Given the description of an element on the screen output the (x, y) to click on. 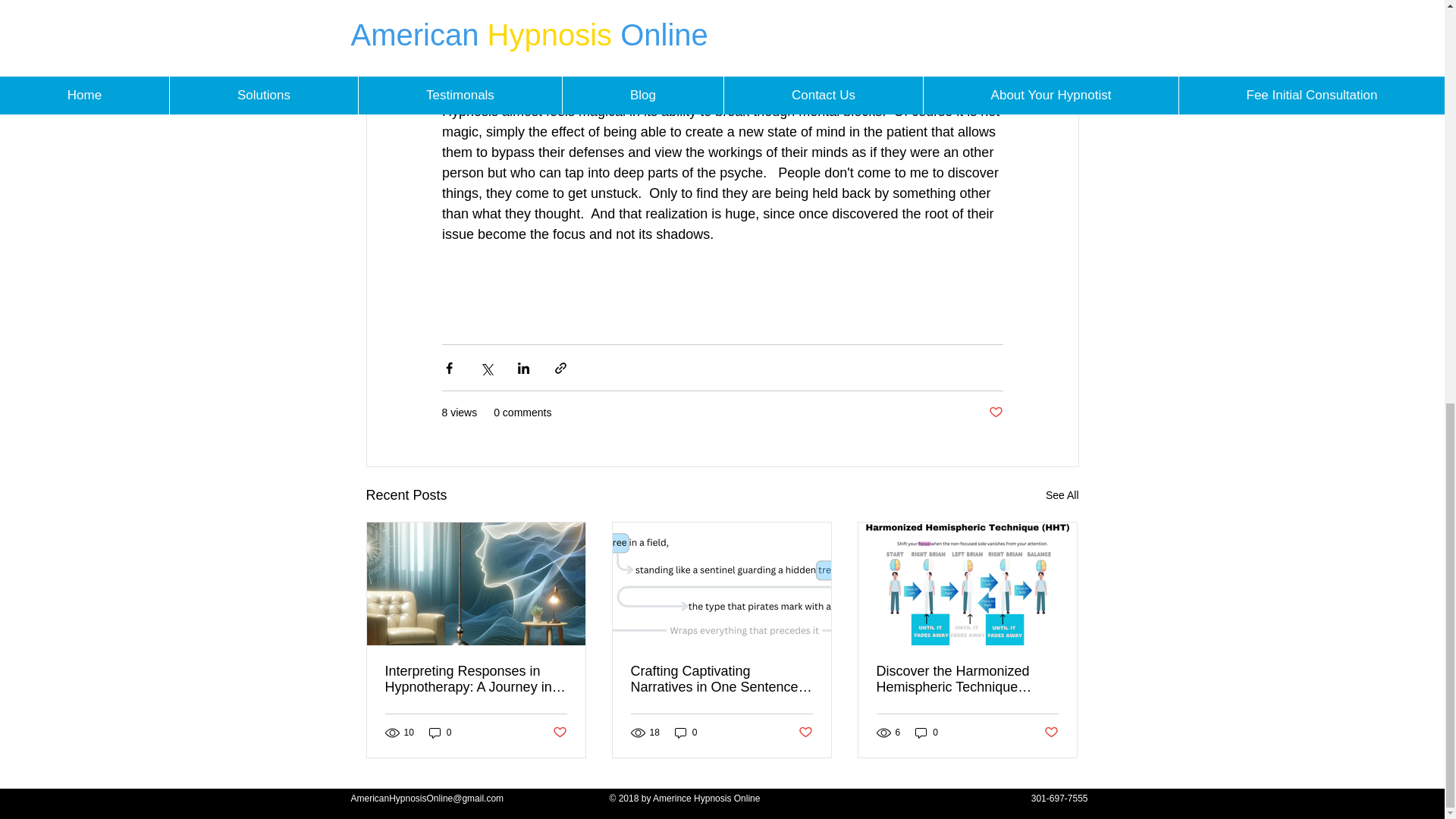
See All (1061, 495)
Post not marked as liked (995, 412)
